Given the description of an element on the screen output the (x, y) to click on. 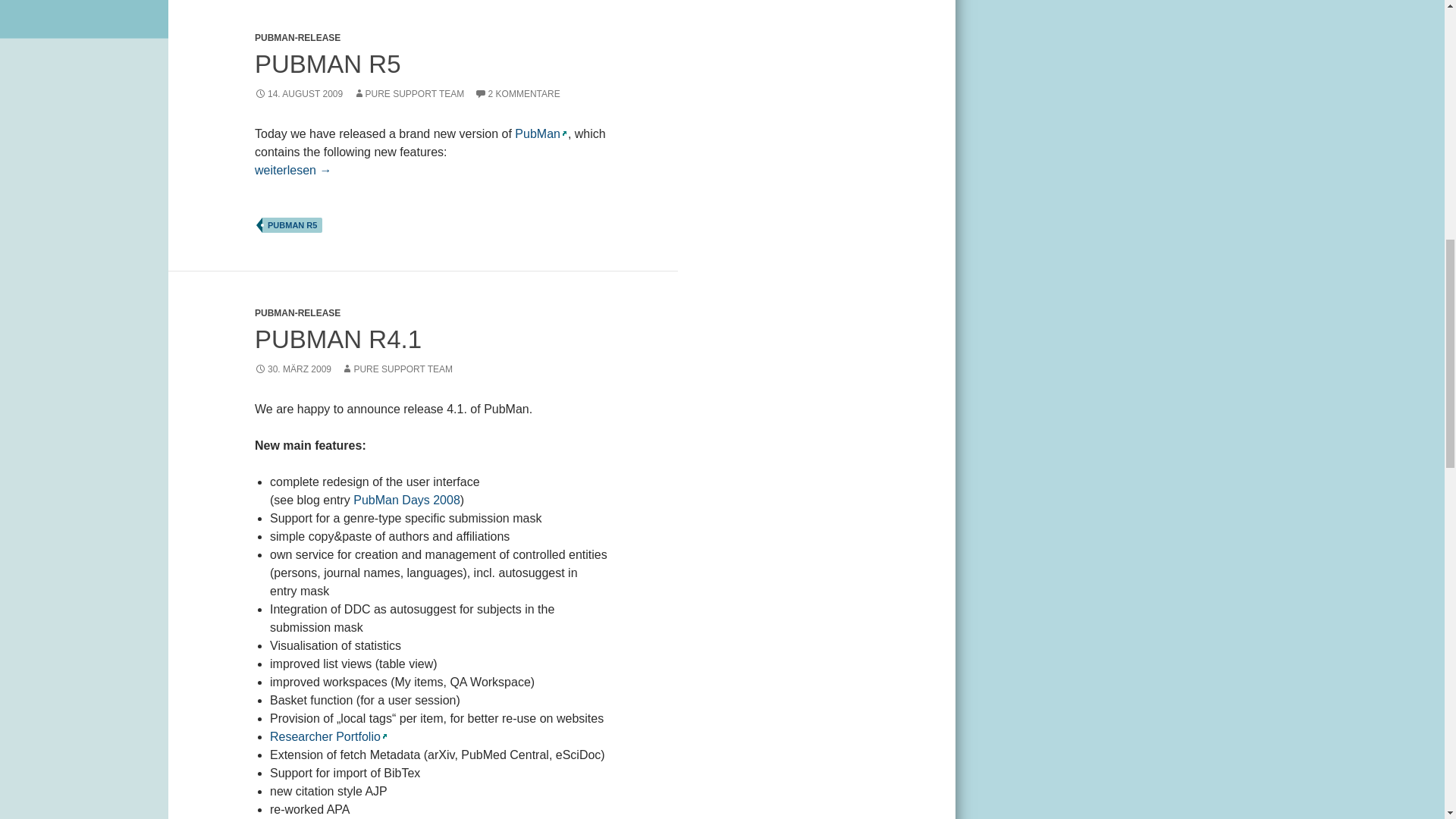
PURE SUPPORT TEAM (396, 368)
14. AUGUST 2009 (298, 93)
PubMan (540, 133)
PubMan-Blog (406, 499)
2 KOMMENTARE (517, 93)
PUBMAN-RELEASE (297, 312)
PubMan-CoNE (328, 736)
Startseite MPG.PuRe (540, 133)
PUBMAN R5 (327, 63)
PUBMAN-RELEASE (297, 37)
Researcher Portfolio (328, 736)
PUBMAN R5 (291, 224)
PURE SUPPORT TEAM (408, 93)
PUBMAN R4.1 (338, 338)
PubMan Days 2008 (406, 499)
